Given the description of an element on the screen output the (x, y) to click on. 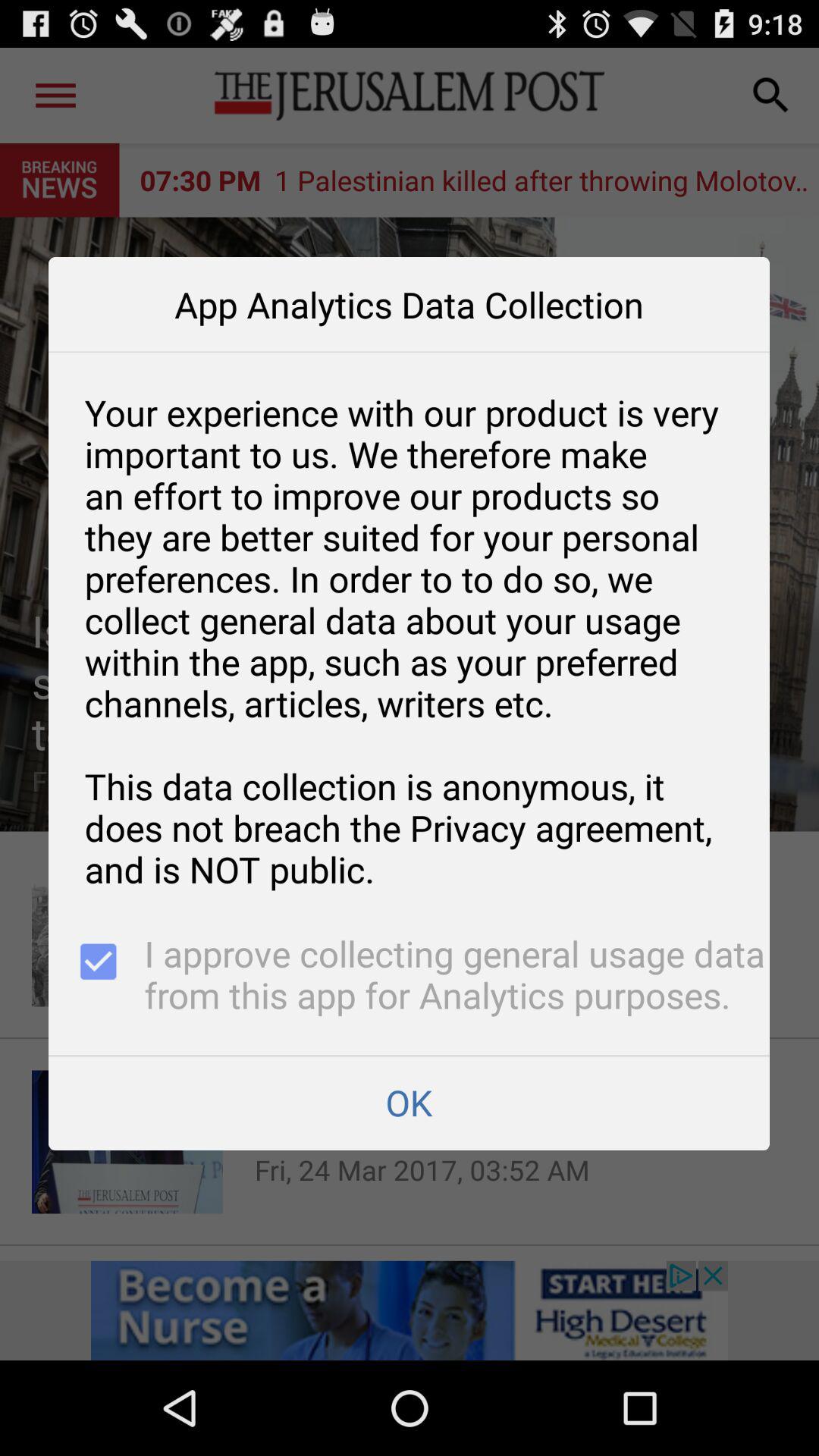
tap the app to the left of i approve collecting item (96, 976)
